Given the description of an element on the screen output the (x, y) to click on. 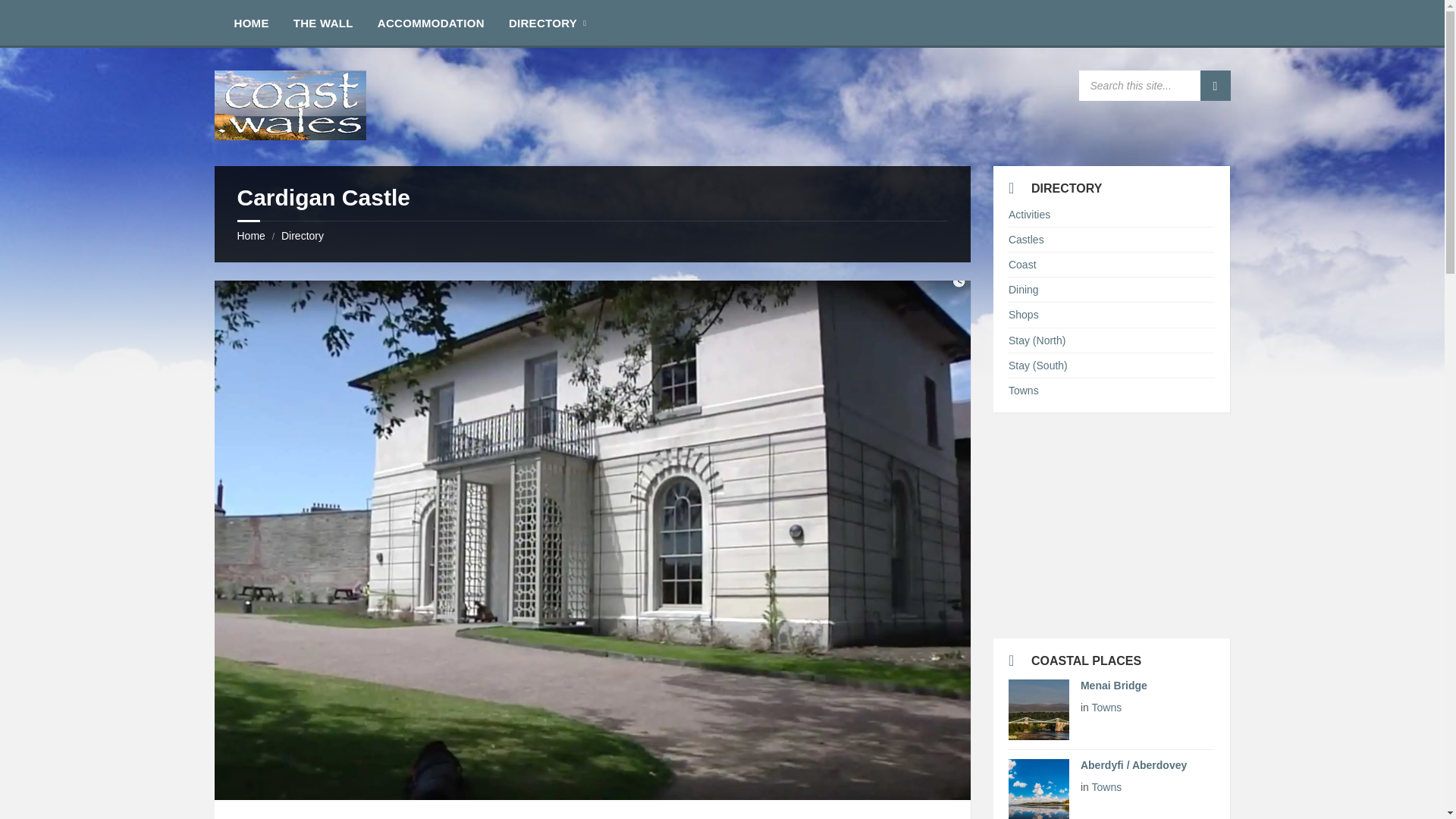
Castles (1026, 239)
Category (1147, 787)
Towns (1024, 390)
DIRECTORY (542, 22)
Category (1147, 707)
Activities (1029, 214)
Dining (1024, 289)
THE WALL (323, 22)
Home (249, 235)
HOME (251, 22)
Shops (1024, 314)
Directory (302, 235)
Submit search (1214, 85)
Coast (1022, 264)
ACCOMMODATION (430, 22)
